Given the description of an element on the screen output the (x, y) to click on. 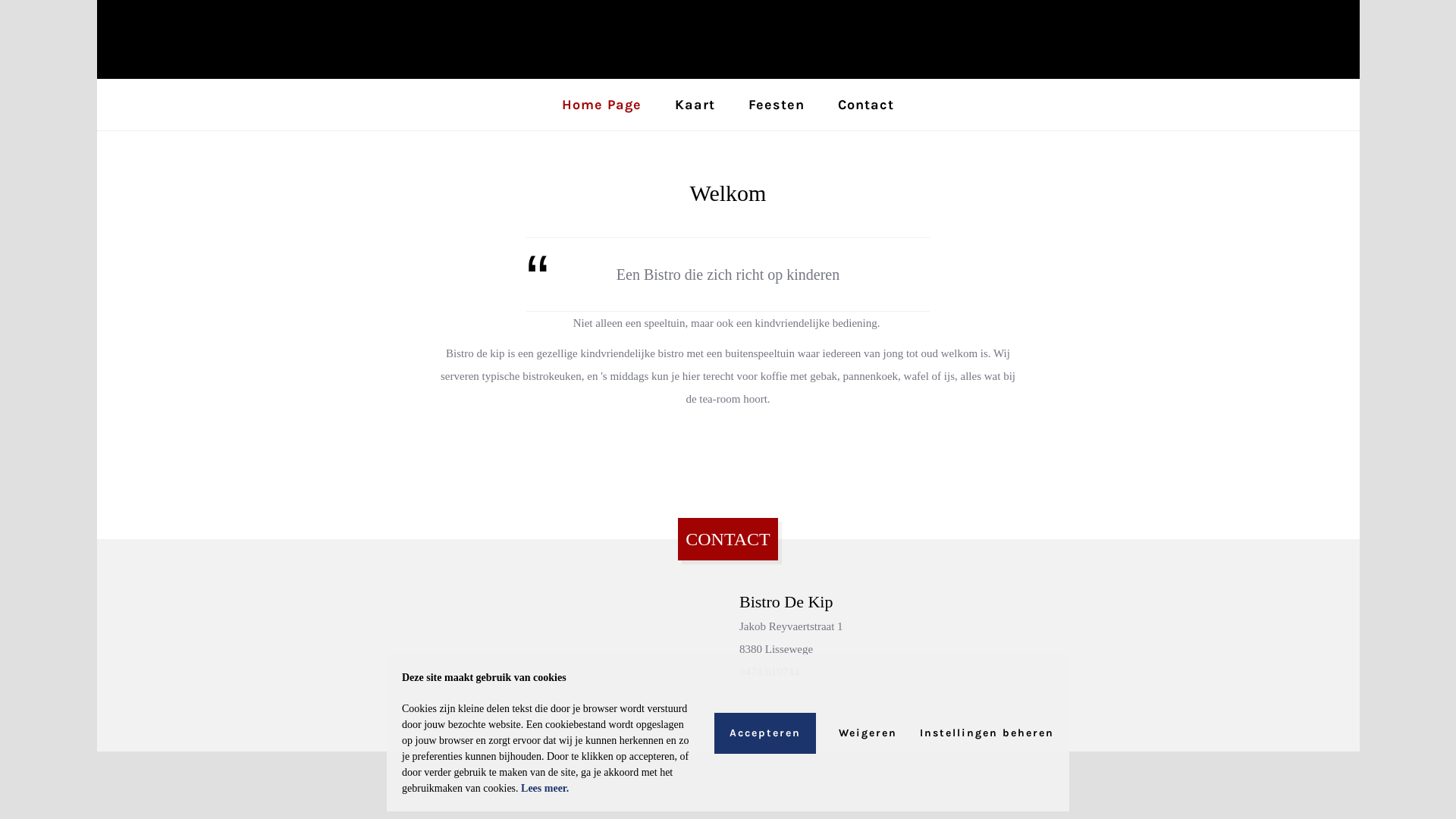
Instellingen beheren Element type: text (986, 732)
Weigeren Element type: text (867, 732)
Feesten Element type: text (776, 104)
Lees meer. Element type: text (544, 787)
Home Page Element type: text (601, 104)
Contact Element type: text (865, 104)
Accepteren Element type: text (764, 732)
Kaart Element type: text (694, 104)
